Given the description of an element on the screen output the (x, y) to click on. 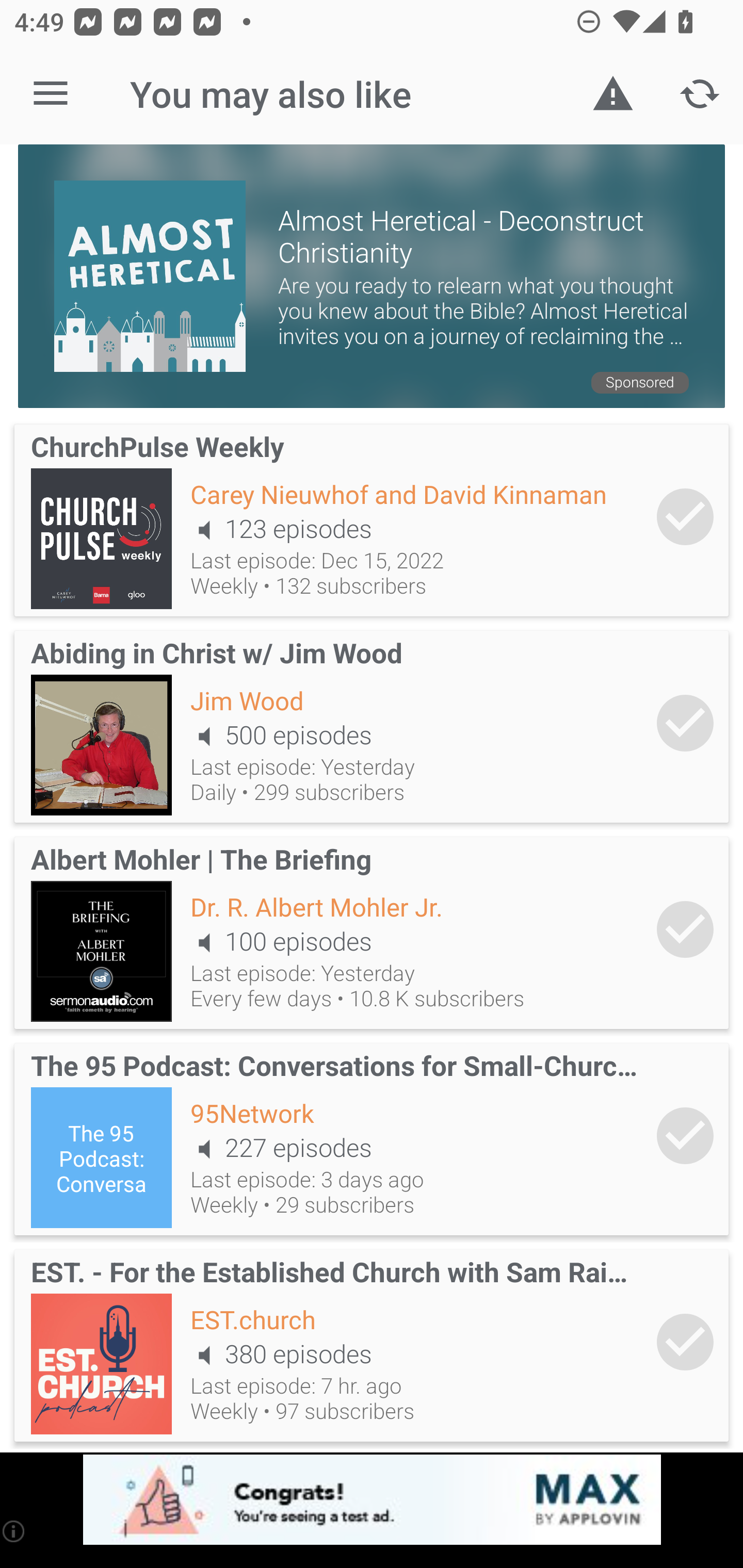
Open navigation sidebar (50, 93)
Report inappropriate content (612, 93)
Update top podcasts list (699, 93)
Add (684, 516)
Add (684, 723)
Add (684, 928)
Add (684, 1135)
Add (684, 1342)
app-monetization (371, 1500)
(i) (14, 1531)
